Given the description of an element on the screen output the (x, y) to click on. 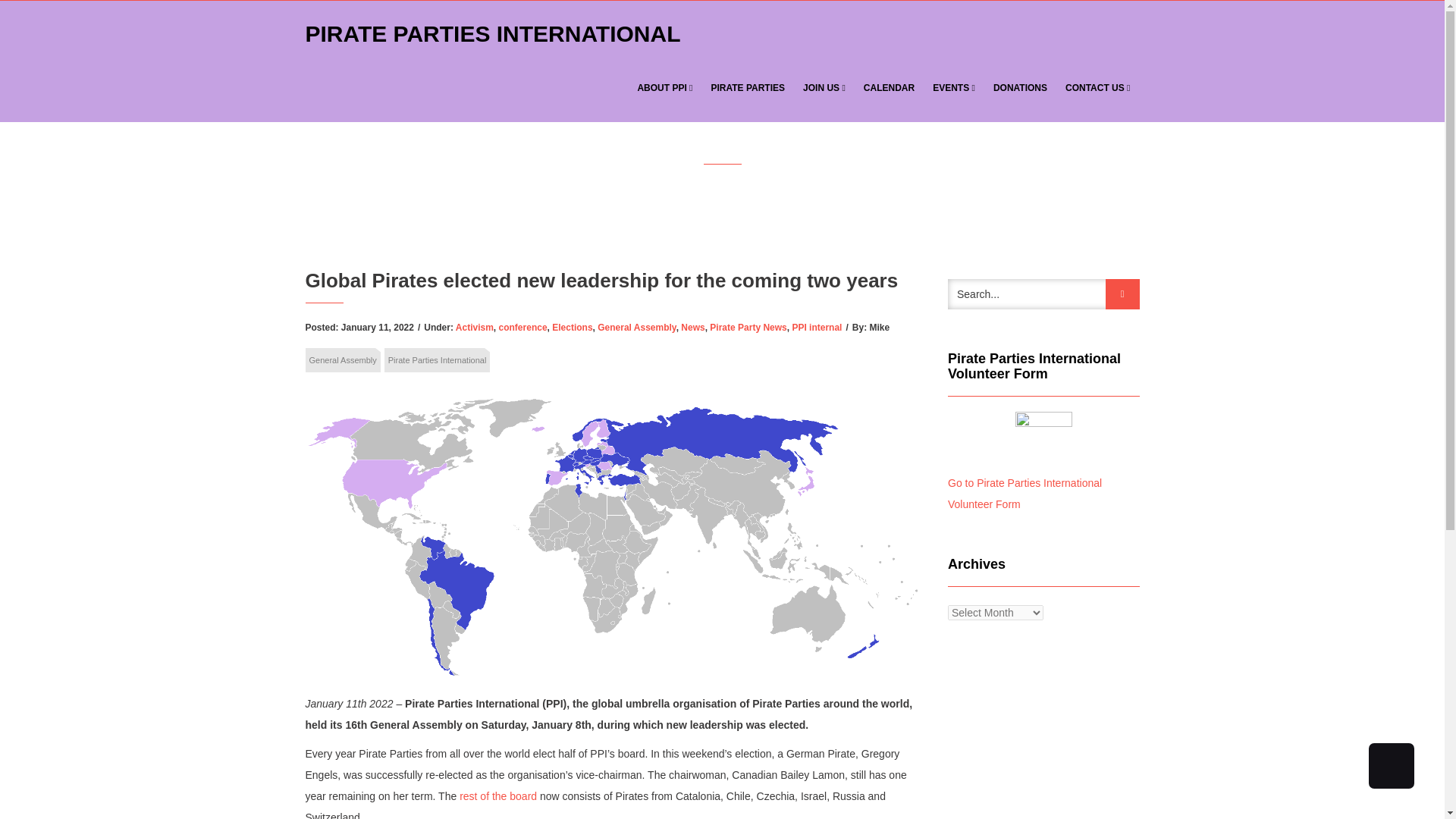
CONTACT US (1098, 88)
conference (523, 327)
Pirate Party News (748, 327)
Pirate Parties International (437, 360)
PIRATE PARTIES (747, 88)
PIRATE PARTIES INTERNATIONAL (497, 27)
Search for: (1043, 294)
PIRATE PARTIES INTERNATIONAL (493, 27)
PPI internal (816, 327)
General Assembly (342, 360)
